Given the description of an element on the screen output the (x, y) to click on. 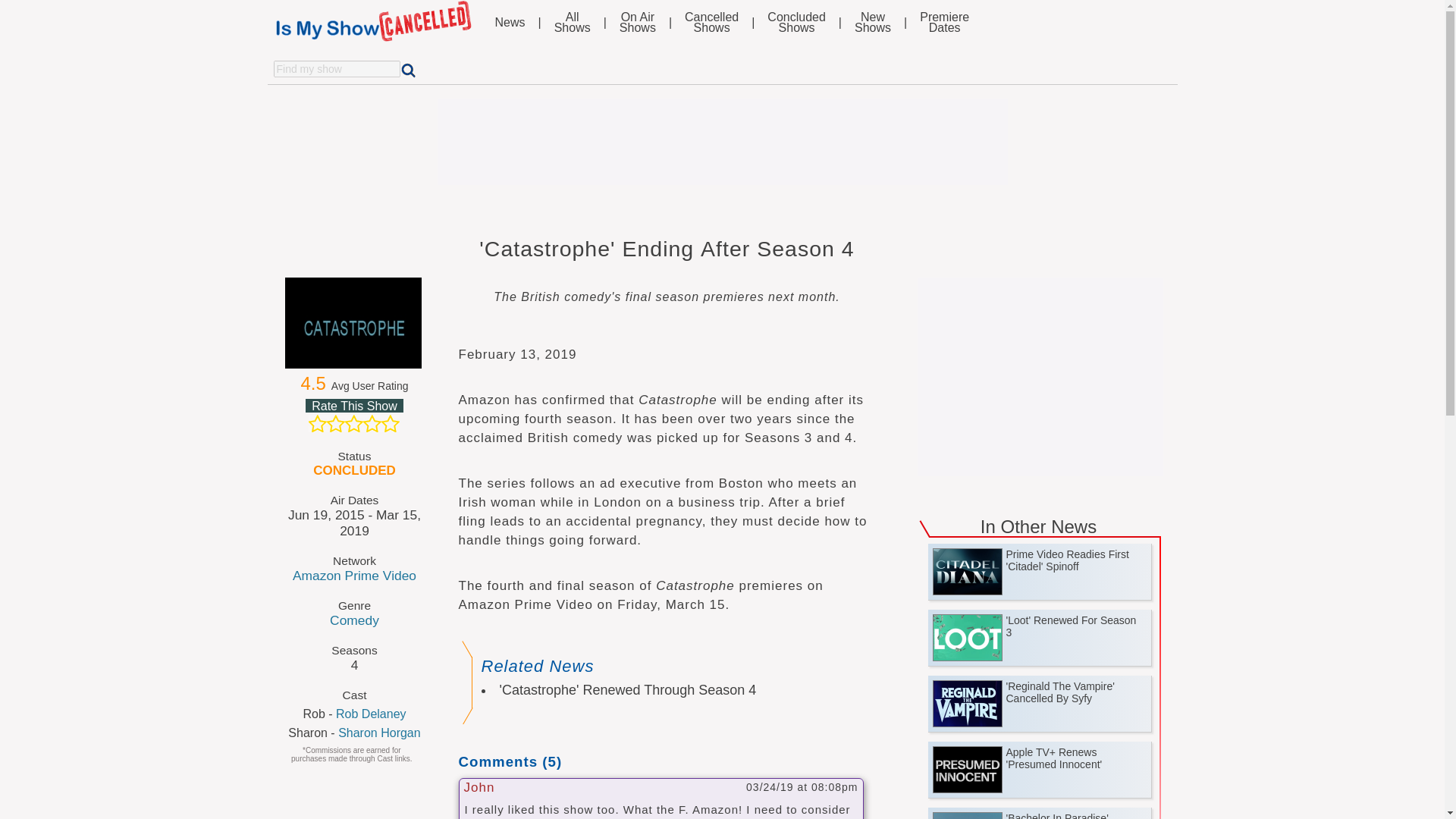
Rob Delaney (371, 713)
Excellent (389, 423)
'Catastrophe' Renewed Through Season 4 (627, 689)
News (572, 22)
Average (509, 22)
Bad (353, 423)
Advertisement (317, 423)
Catastrophe on Amazon Prime Video (796, 22)
Amazon Prime Video (1040, 371)
Advertisement (355, 322)
